Given the description of an element on the screen output the (x, y) to click on. 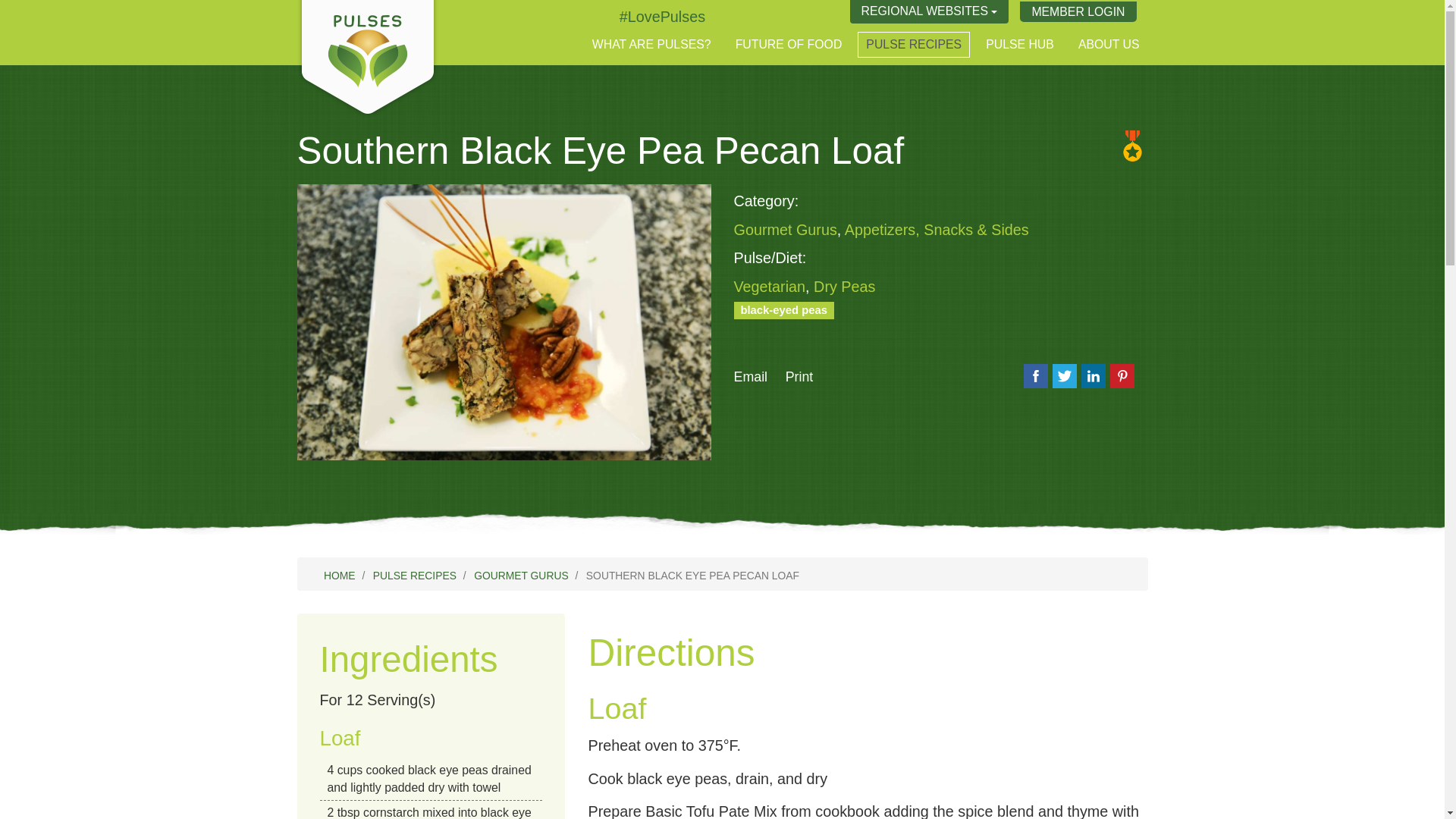
Dry Peas (844, 286)
Share on LinkedIn (1093, 375)
Share on Twitter (1064, 375)
Share on Facebook (1035, 375)
Email (750, 376)
Vegetarian (769, 286)
Gourmet Gurus (785, 229)
Print (799, 376)
Twitter (662, 16)
